Given the description of an element on the screen output the (x, y) to click on. 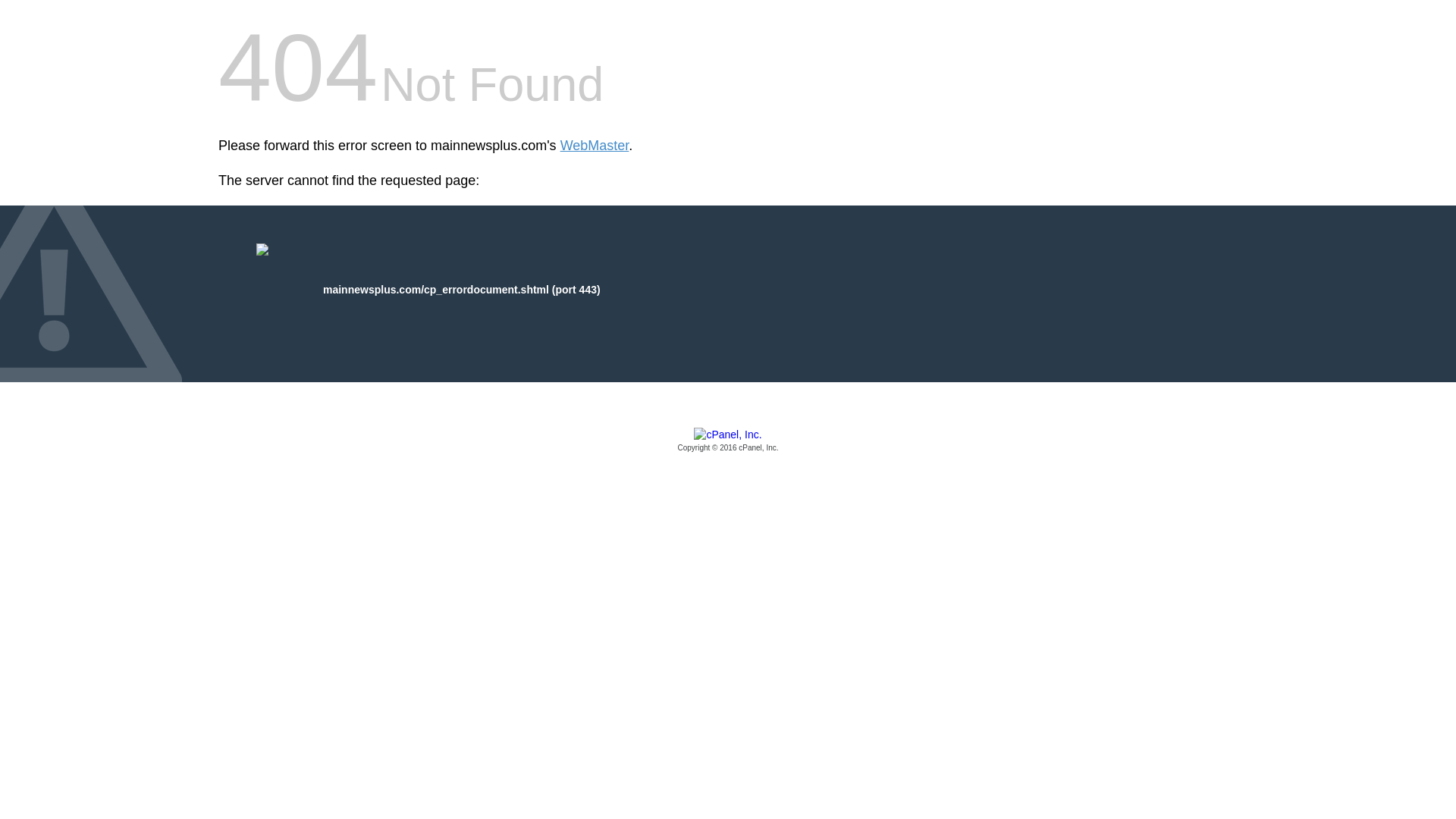
WebMaster (594, 145)
cPanel, Inc. (727, 440)
